Given the description of an element on the screen output the (x, y) to click on. 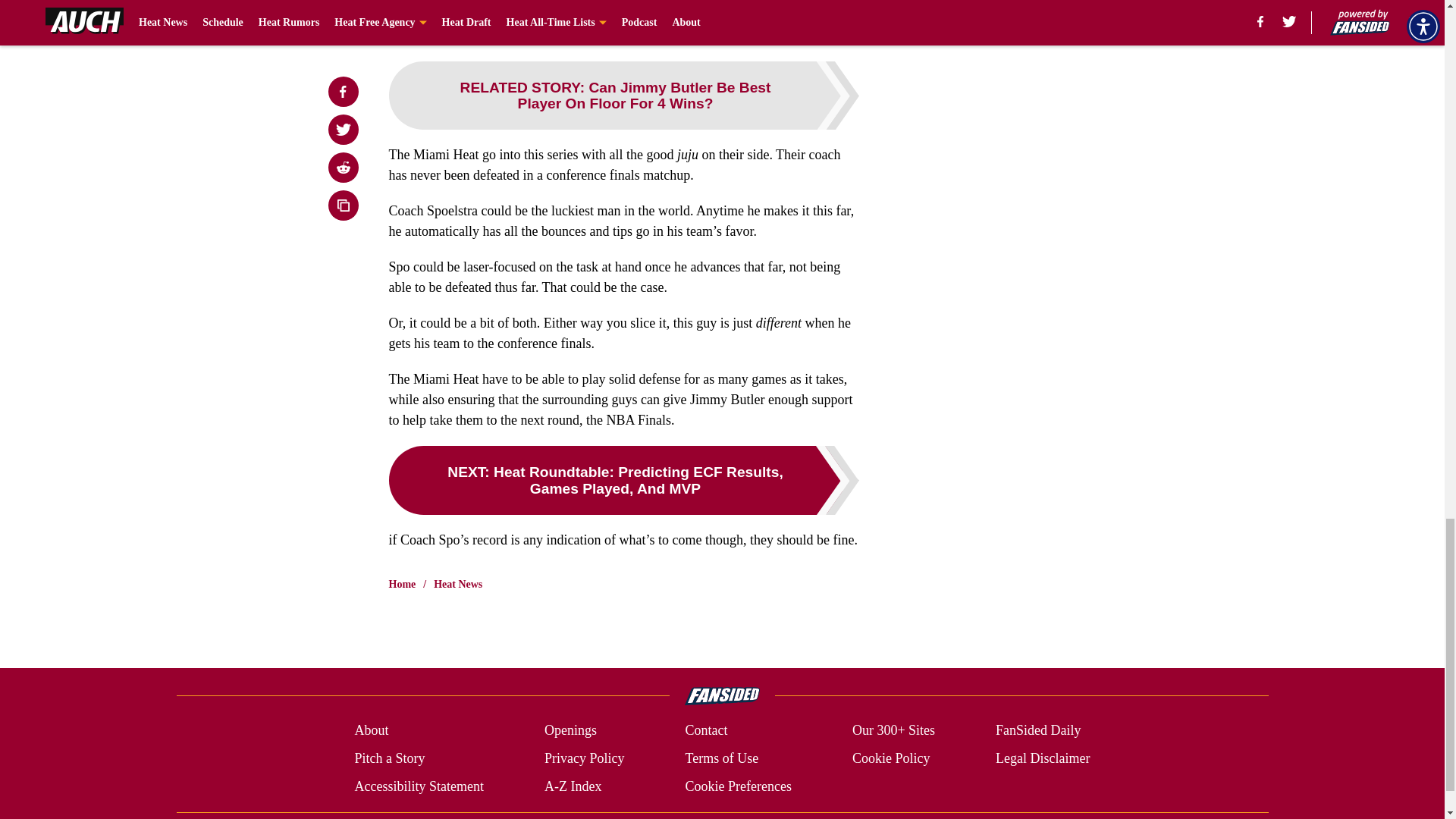
Heat News (457, 584)
Openings (570, 730)
Home (401, 584)
Pitch a Story (389, 758)
FanSided Daily (1038, 730)
Contact (705, 730)
About (370, 730)
